Given the description of an element on the screen output the (x, y) to click on. 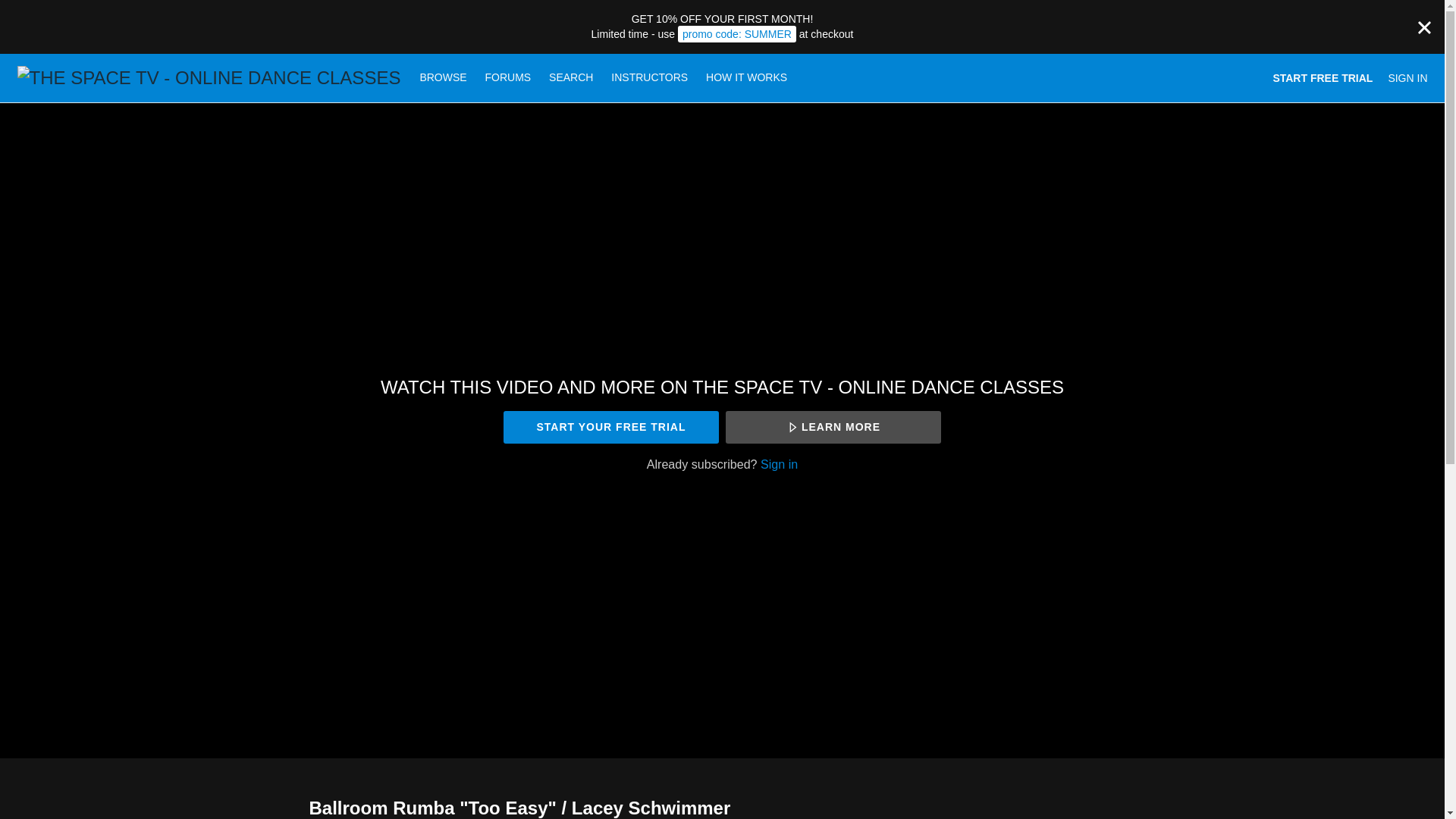
FORUMS (509, 77)
START FREE TRIAL (1322, 78)
SIGN IN (1406, 78)
SEARCH (572, 77)
INSTRUCTORS (649, 77)
START YOUR FREE TRIAL (610, 427)
Skip to main content (48, 7)
BROWSE (444, 77)
LEARN MORE (832, 427)
HOW IT WORKS (746, 77)
Sign in (778, 463)
